Given the description of an element on the screen output the (x, y) to click on. 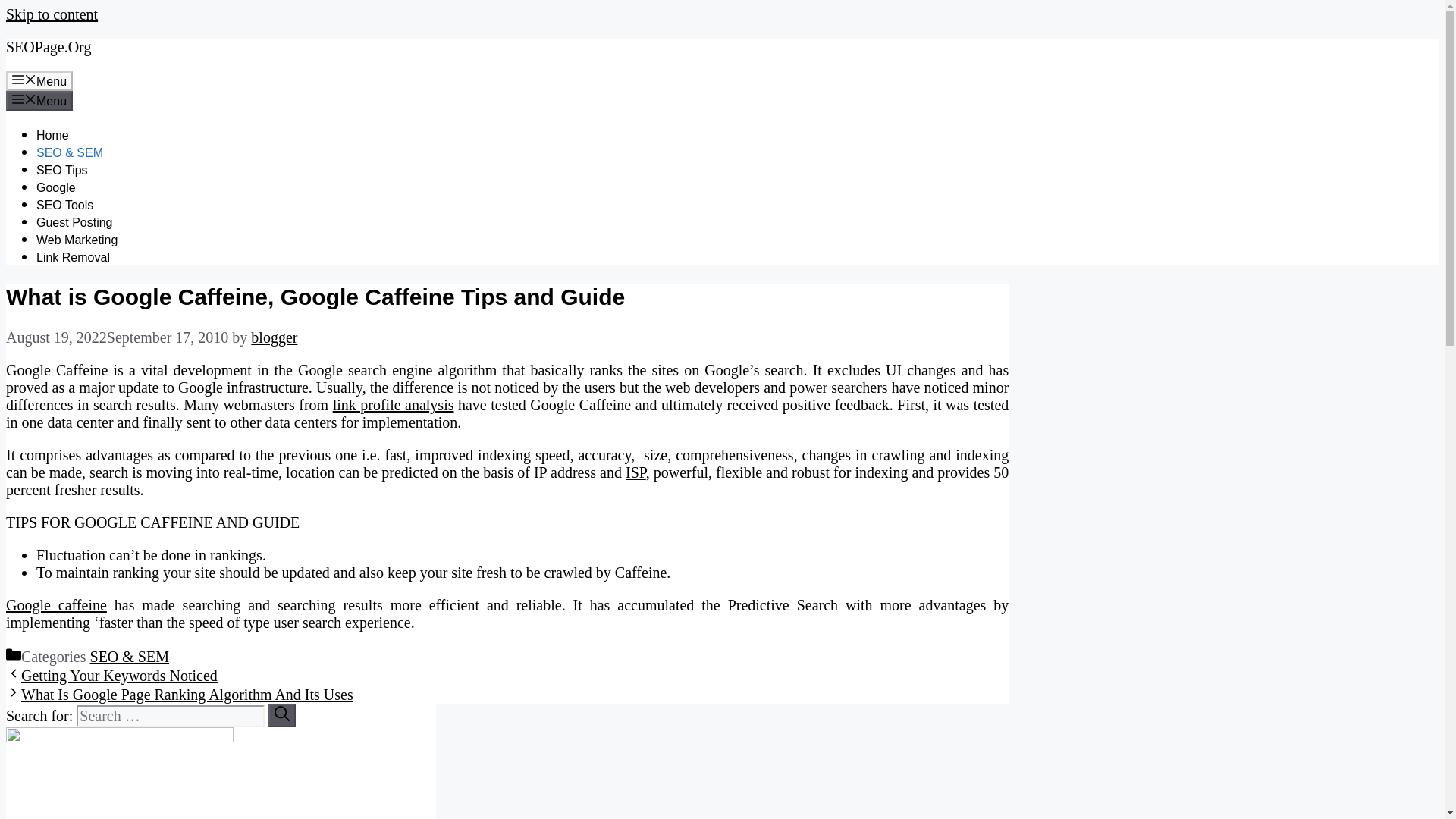
Home (52, 134)
Skip to content (51, 13)
Guest Posting (74, 222)
SEO Tools (64, 205)
View all posts by blogger (273, 337)
ISP (636, 472)
Google caffeine (55, 605)
Skip to content (51, 13)
What Is Google Page Ranking Algorithm And Its Uses (187, 694)
Web Marketing (76, 239)
